Given the description of an element on the screen output the (x, y) to click on. 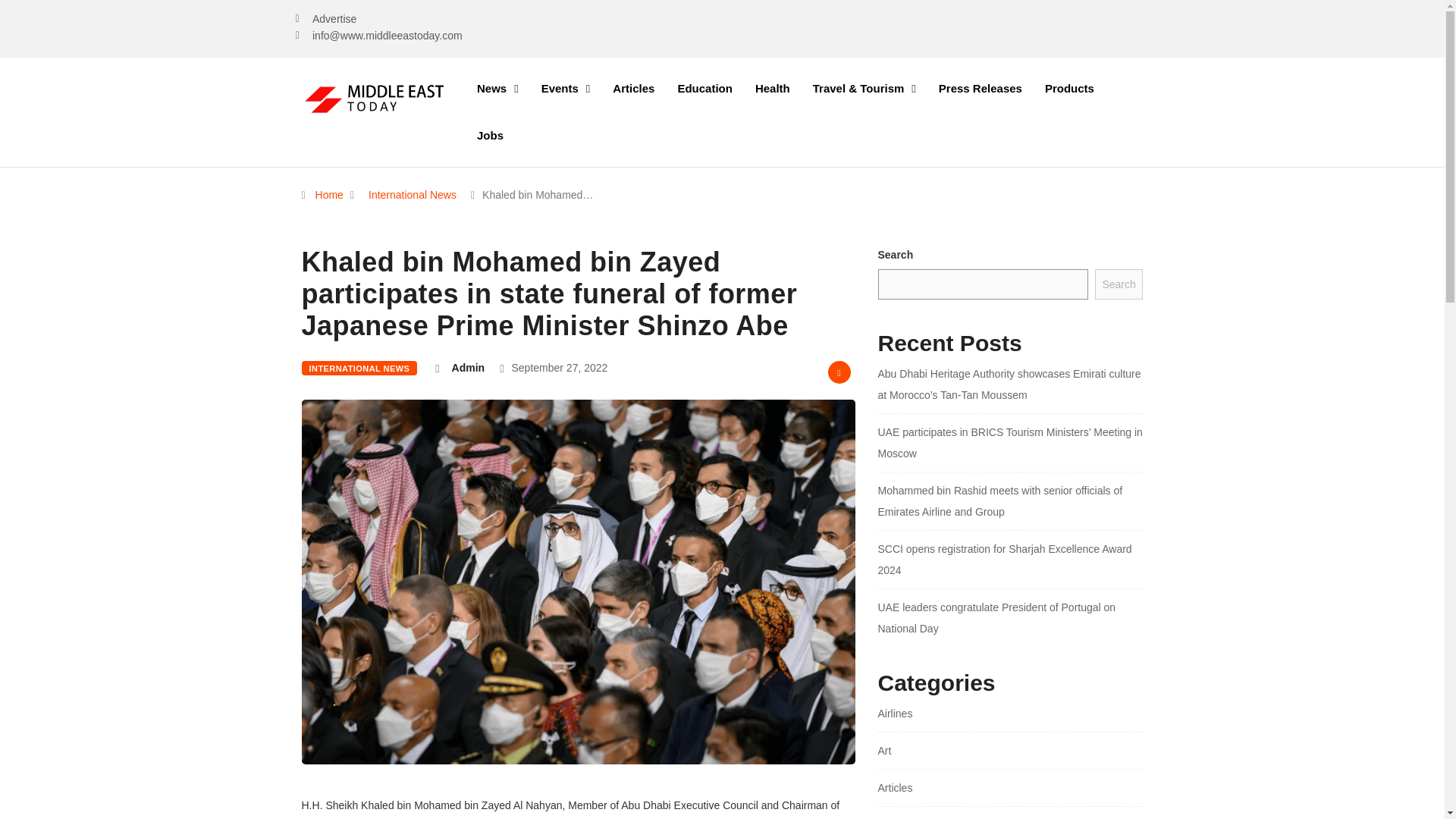
Advertise (325, 18)
Products (1069, 88)
Education (704, 88)
Press Releases (980, 88)
Events (565, 88)
Jobs (490, 135)
Articles (633, 88)
Health (773, 88)
News (497, 88)
